Given the description of an element on the screen output the (x, y) to click on. 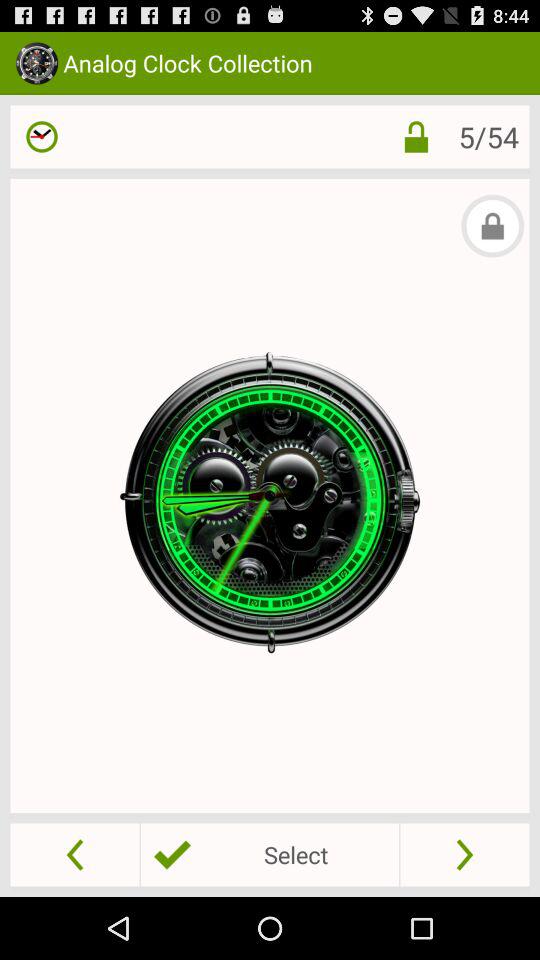
go to previous (74, 854)
